Given the description of an element on the screen output the (x, y) to click on. 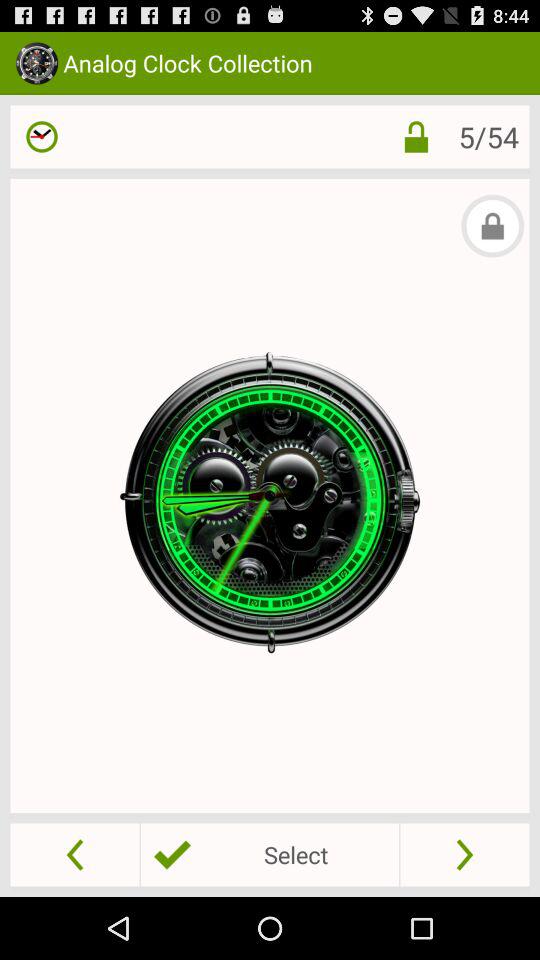
go to previous (74, 854)
